Given the description of an element on the screen output the (x, y) to click on. 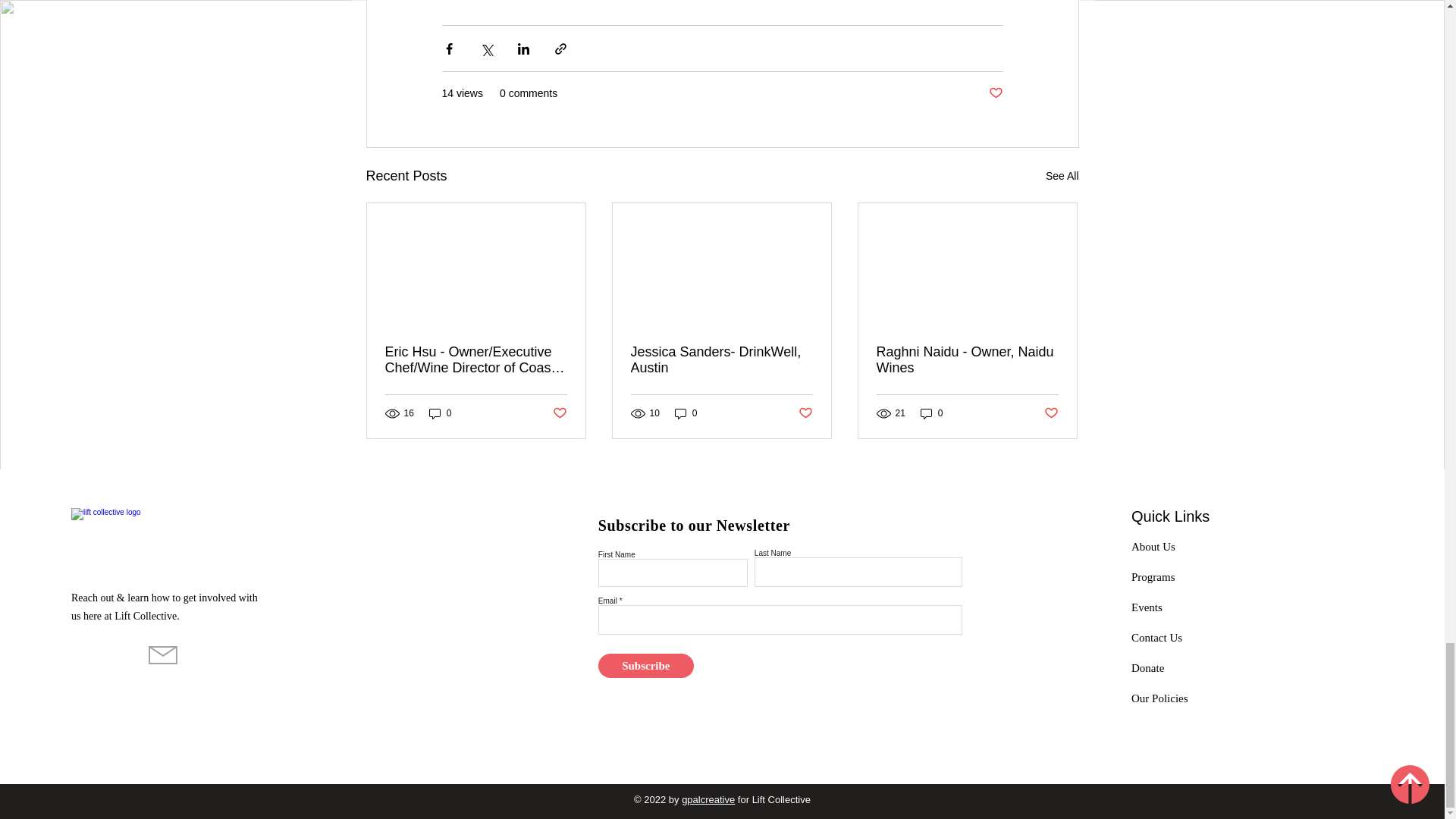
Jessica Sanders- DrinkWell, Austin (721, 359)
Post not marked as liked (995, 93)
See All (1061, 176)
0 (685, 412)
Post not marked as liked (804, 413)
0 (440, 412)
Post not marked as liked (558, 413)
